Given the description of an element on the screen output the (x, y) to click on. 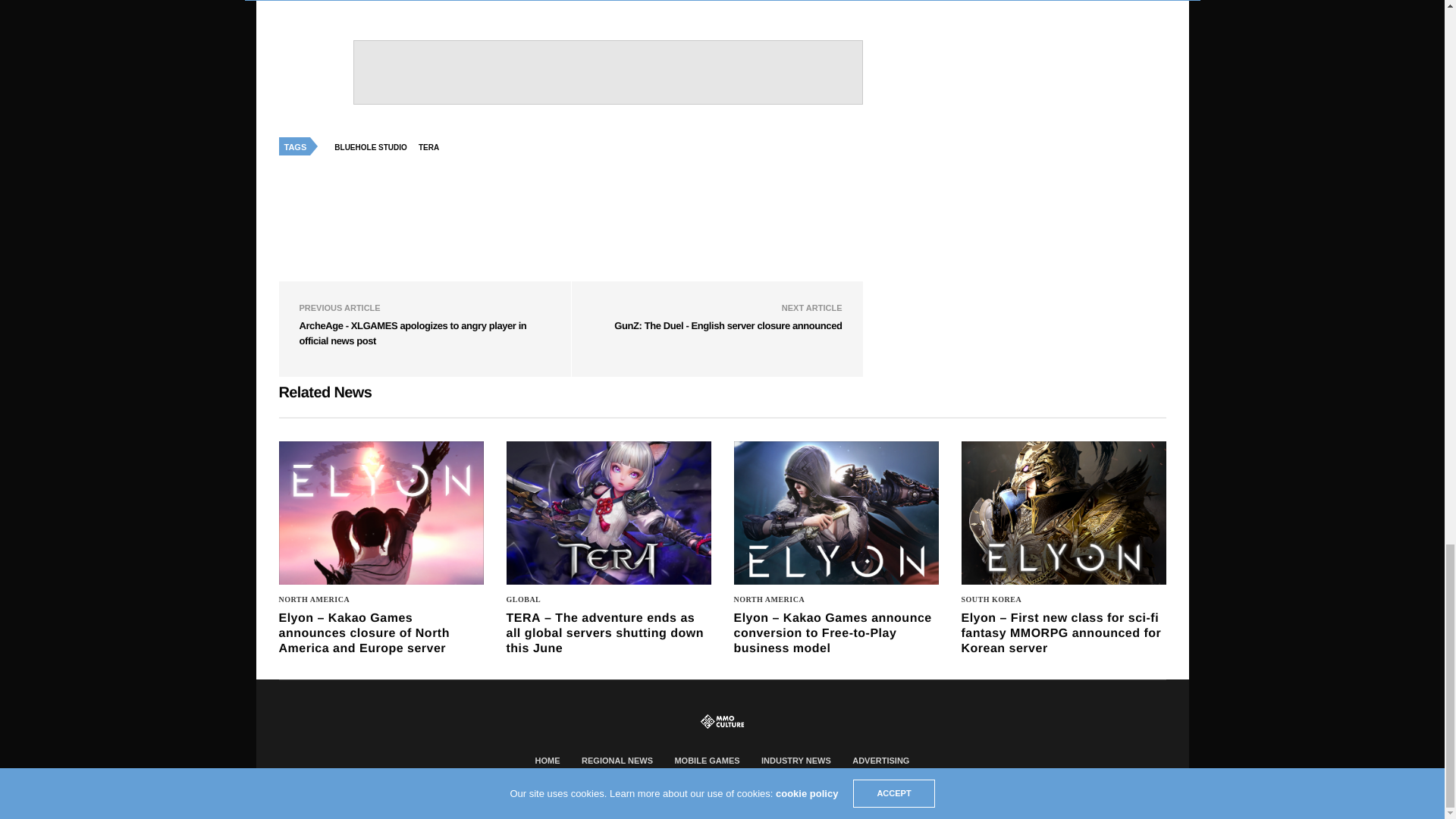
North America (314, 599)
